Given the description of an element on the screen output the (x, y) to click on. 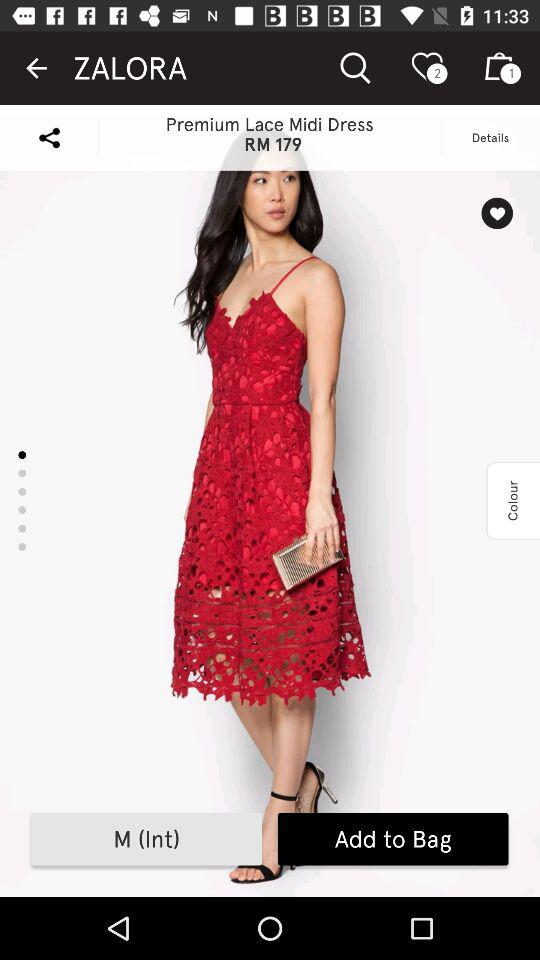
heart this dress (496, 213)
